Given the description of an element on the screen output the (x, y) to click on. 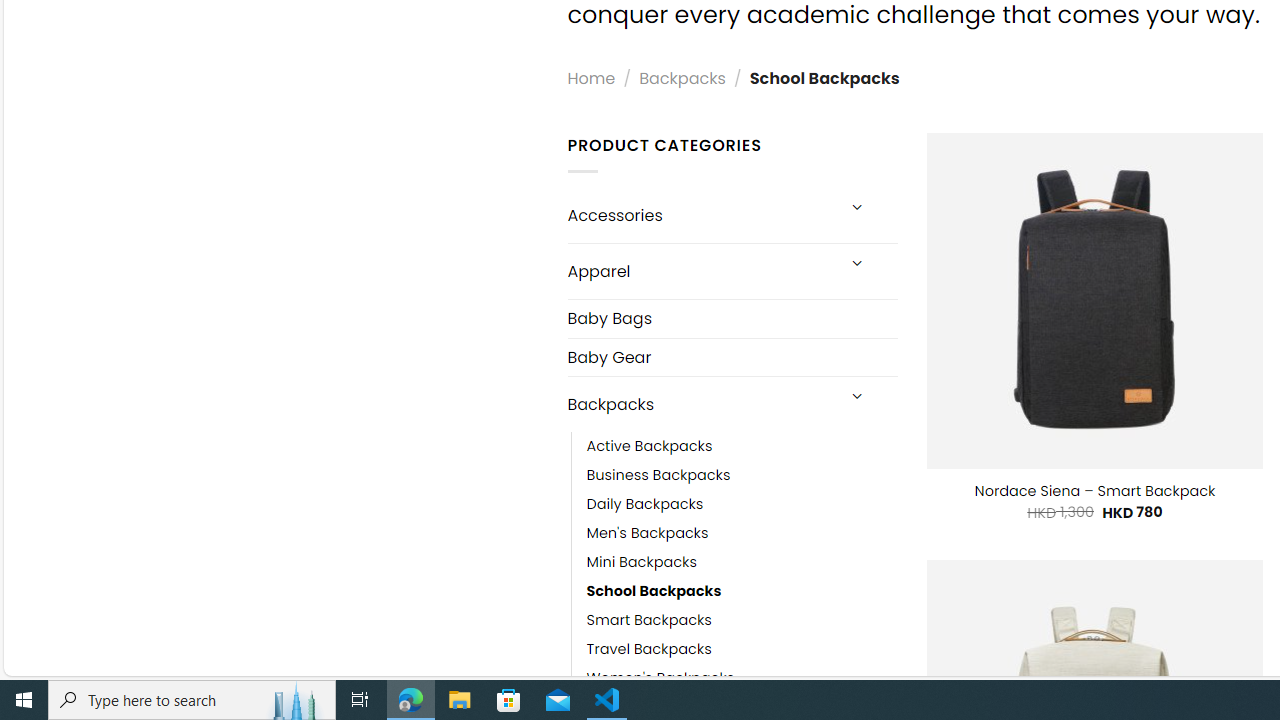
Active Backpacks (649, 447)
Active Backpacks (742, 447)
